Given the description of an element on the screen output the (x, y) to click on. 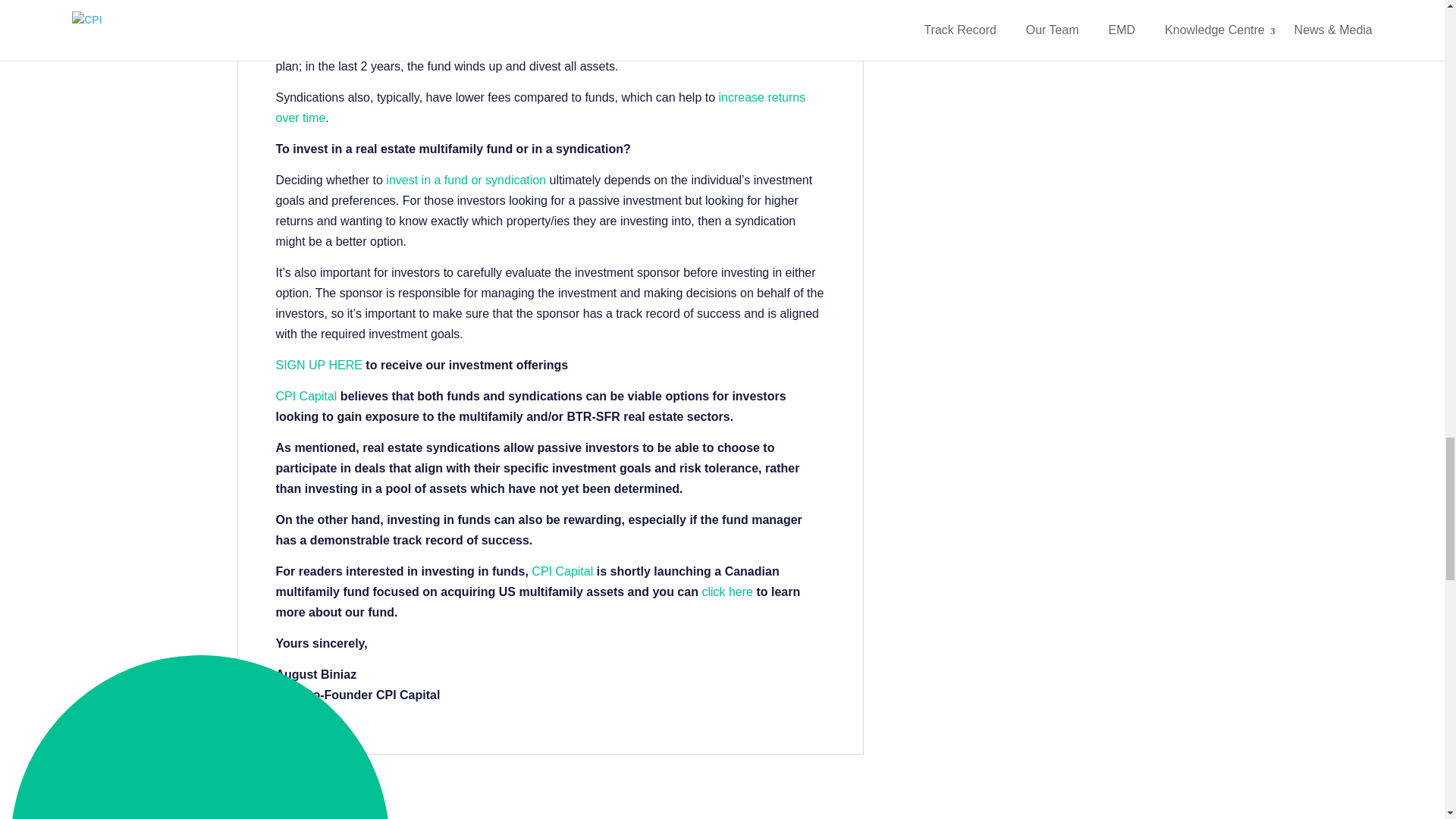
SIGN UP HERE (319, 370)
CPI Capital (306, 401)
CPI Capital (561, 576)
click here (726, 597)
invest in a fund or syndication (465, 185)
increase returns over time (541, 112)
